Given the description of an element on the screen output the (x, y) to click on. 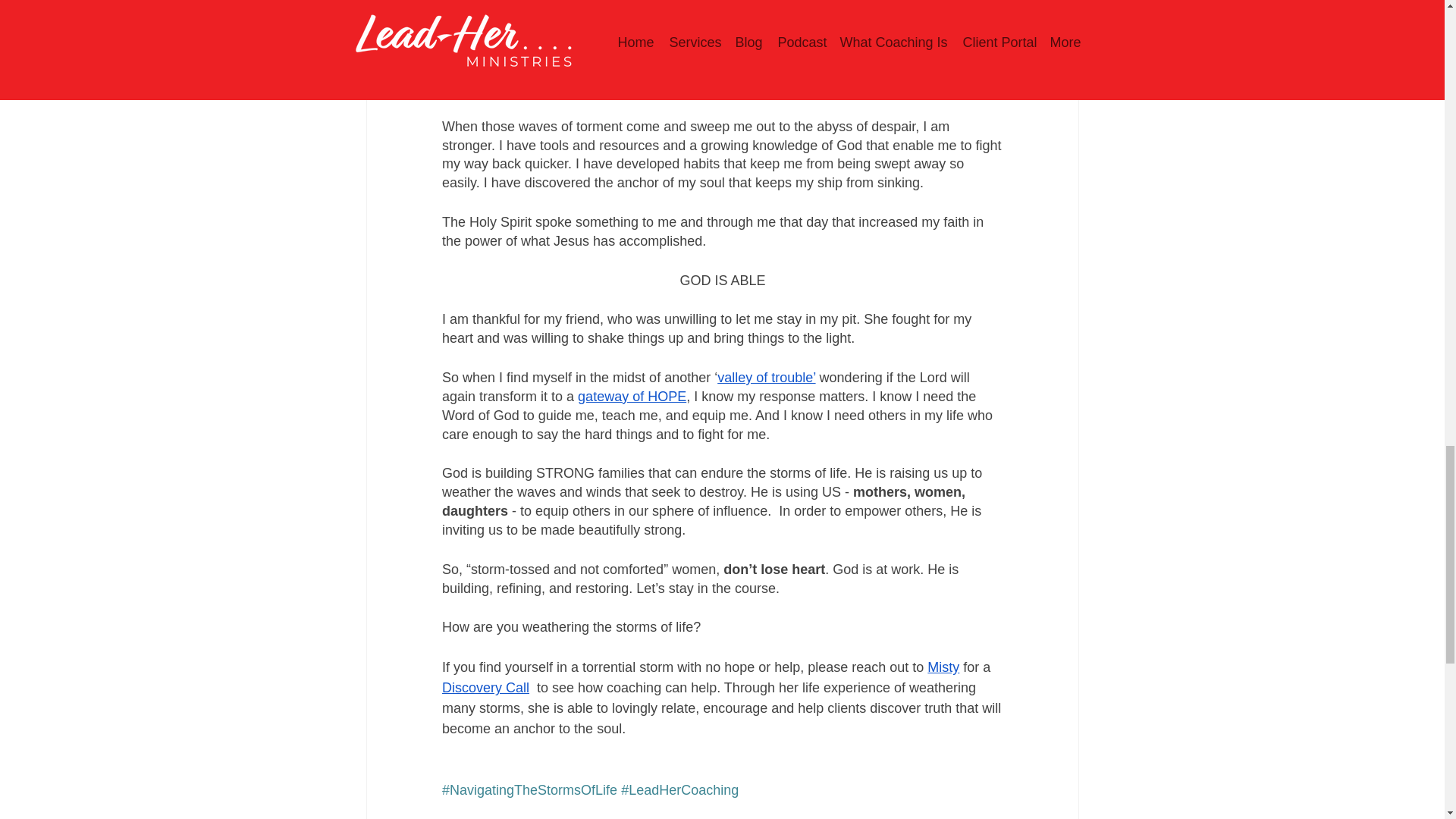
storm-tossed and not comforted. (569, 45)
Discovery Call (484, 687)
make a roadway in the wilderness (715, 76)
gateway of HOPE (631, 396)
Misty (943, 667)
bring water from a rock (735, 86)
bring beauty from ashes (828, 65)
Isaiah 54  (623, 24)
